Given the description of an element on the screen output the (x, y) to click on. 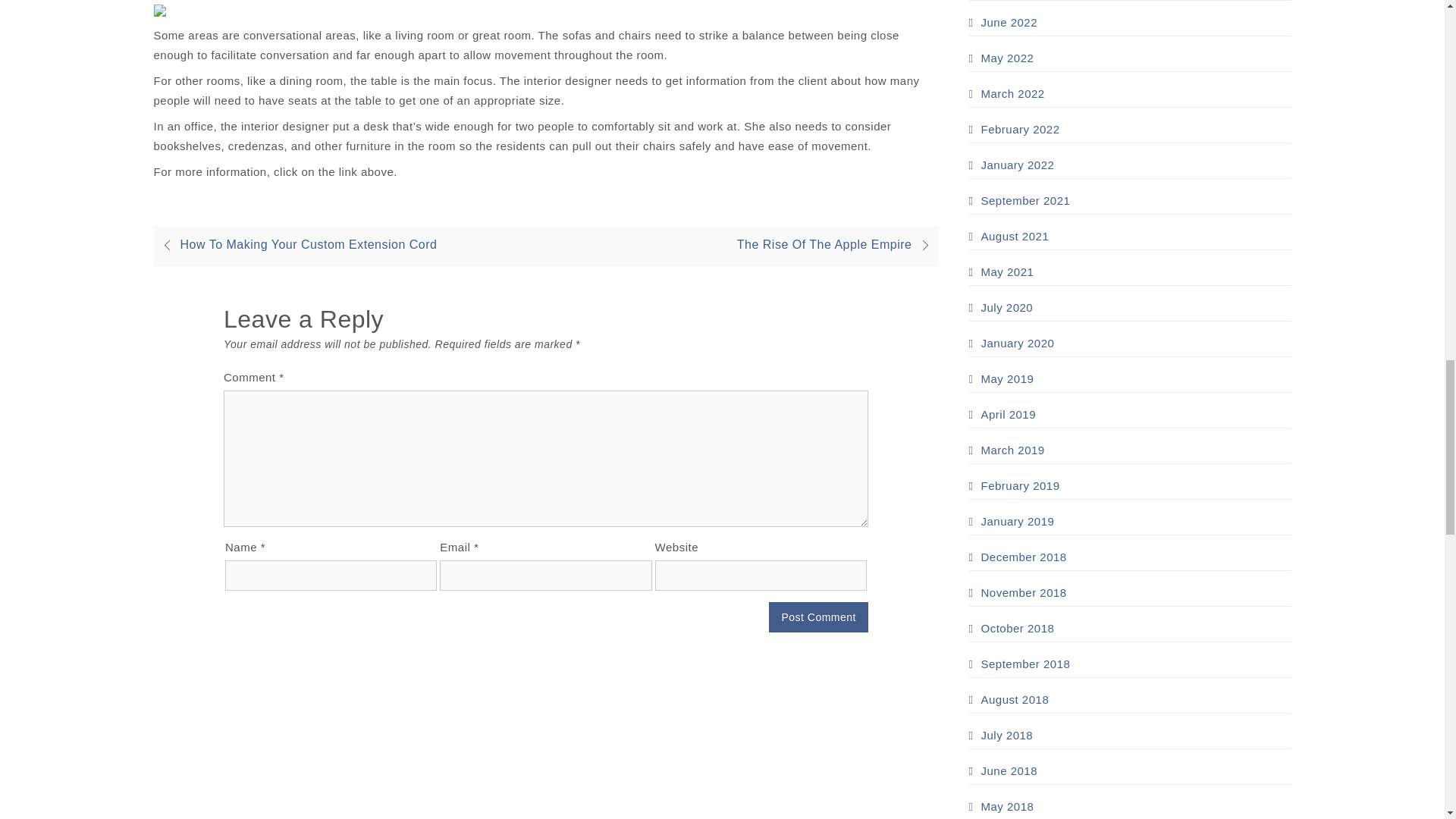
Post Comment (817, 616)
June 2022 (1003, 22)
May 2021 (1001, 271)
The Rise Of The Apple Empire (837, 244)
April 2019 (1002, 414)
Post Comment (817, 616)
February 2019 (1014, 485)
January 2020 (1011, 343)
March 2019 (1007, 450)
May 2019 (1001, 379)
